Given the description of an element on the screen output the (x, y) to click on. 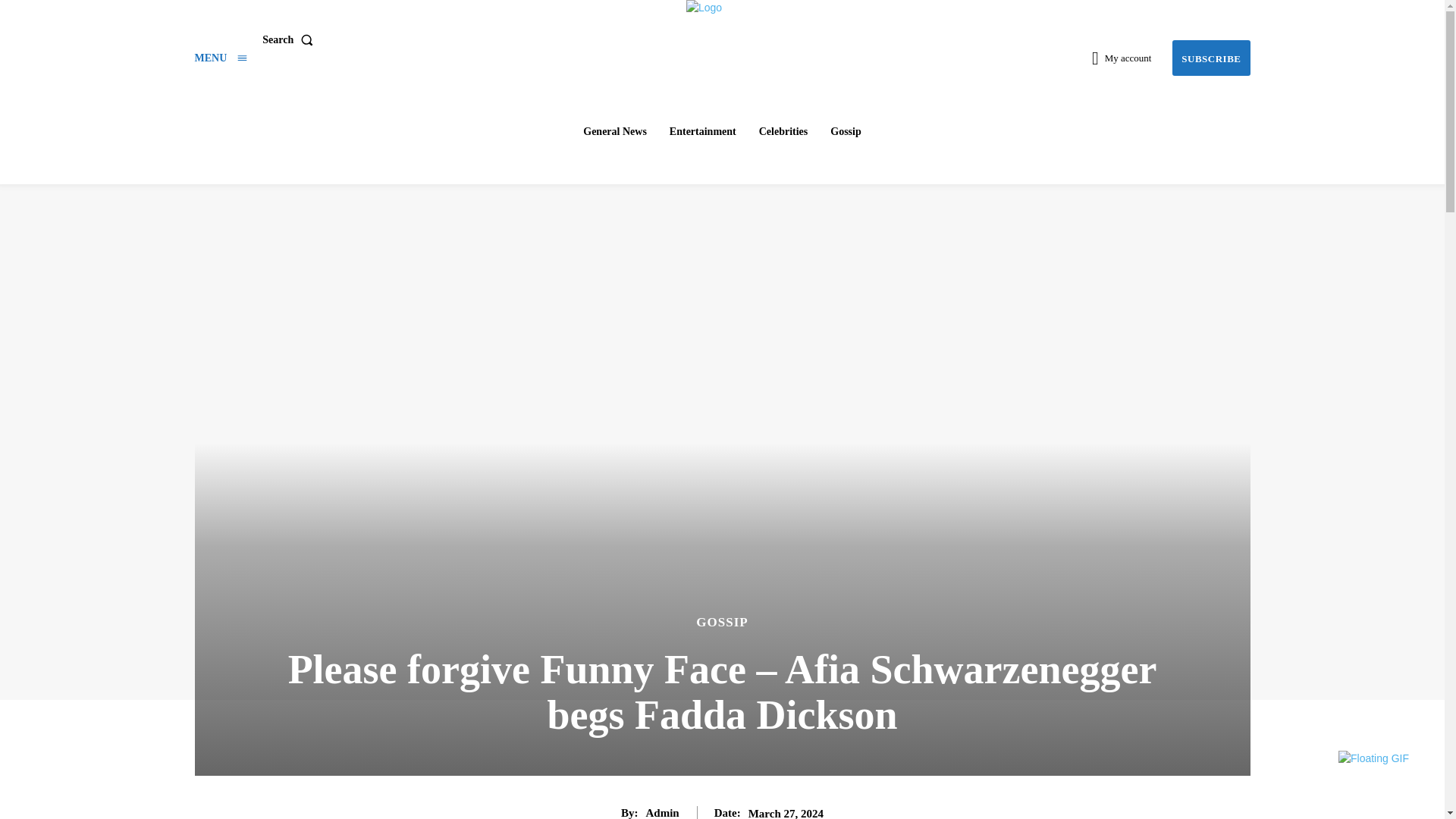
Subscribe (1210, 58)
Menu (220, 57)
Entertainment (703, 132)
MENU (220, 57)
Gossip (844, 132)
GOSSIP (721, 621)
Search (290, 40)
Celebrities (783, 132)
SUBSCRIBE (1210, 58)
Admin (662, 812)
General News (614, 132)
